Given the description of an element on the screen output the (x, y) to click on. 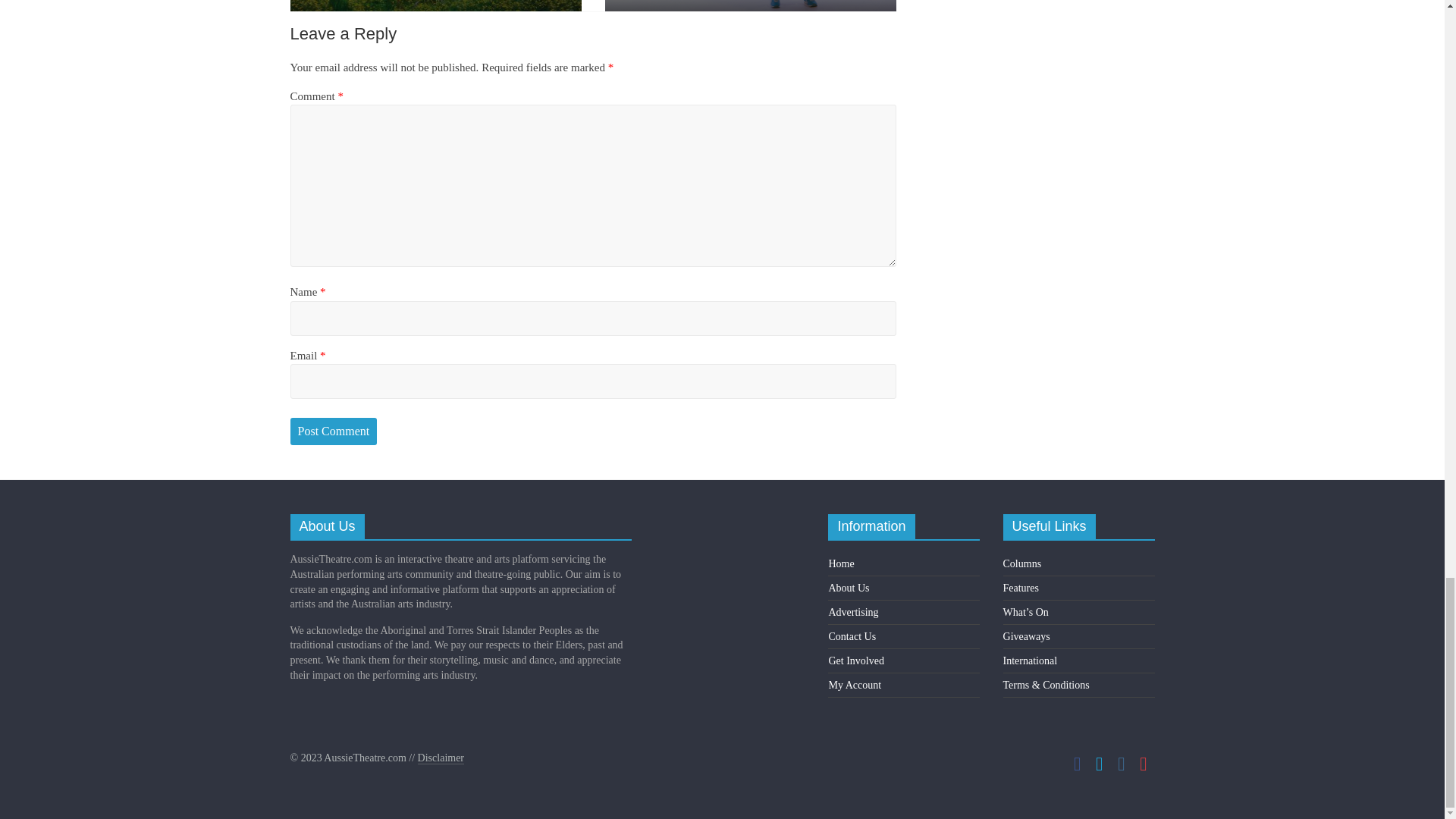
Advertising (852, 612)
Post Comment (333, 431)
Contact Us (852, 636)
Home (840, 563)
About Us (848, 587)
Post Comment (333, 431)
